Given the description of an element on the screen output the (x, y) to click on. 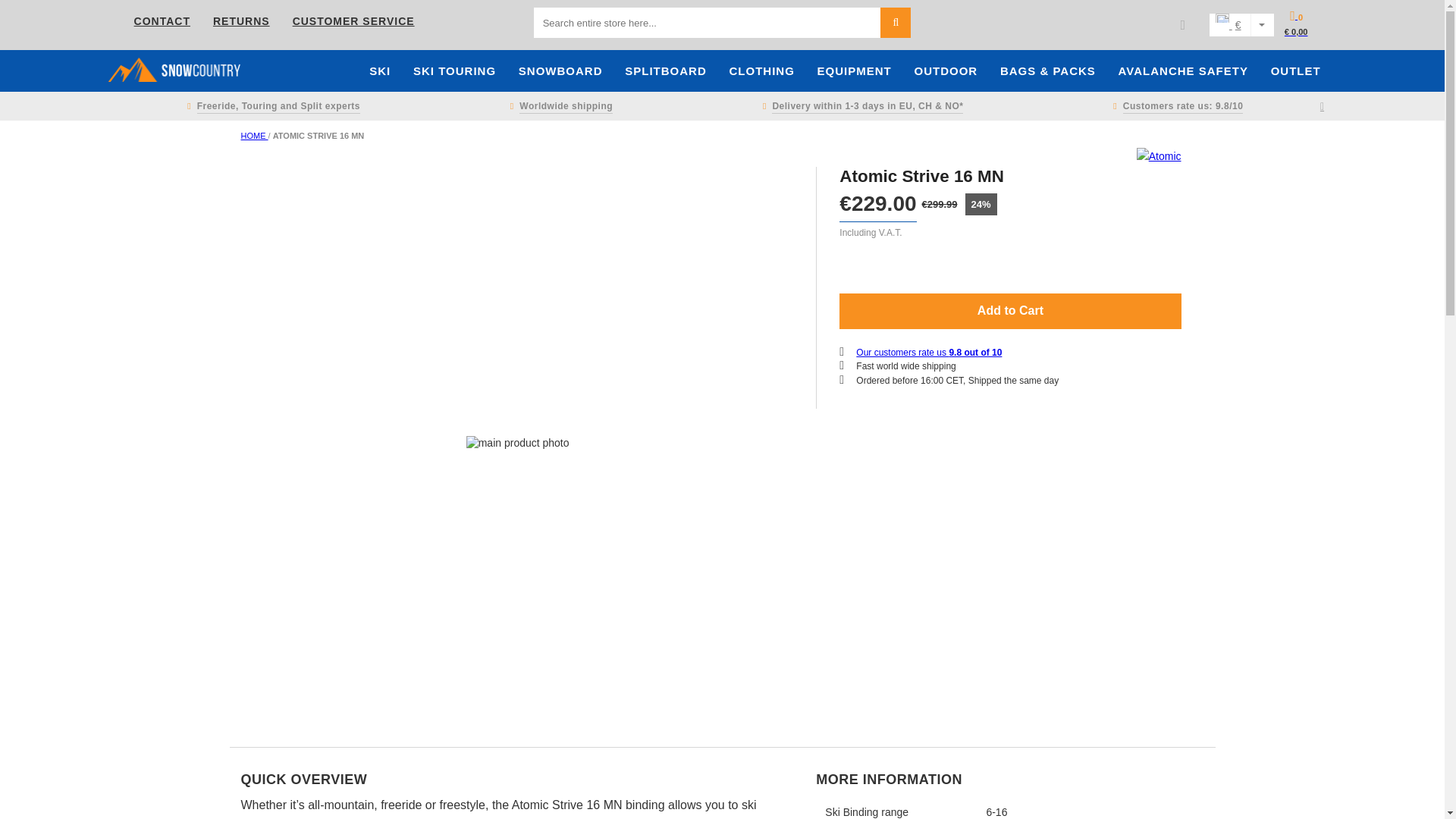
CONTACT (161, 21)
Add to Cart (1010, 311)
CUSTOMER SERVICE (353, 21)
RETURNS (240, 21)
Search (895, 22)
Customers rate (1175, 105)
Delivery times (859, 105)
Go to Home Page (254, 135)
Worldwide shipping (557, 105)
Search (895, 22)
